Given the description of an element on the screen output the (x, y) to click on. 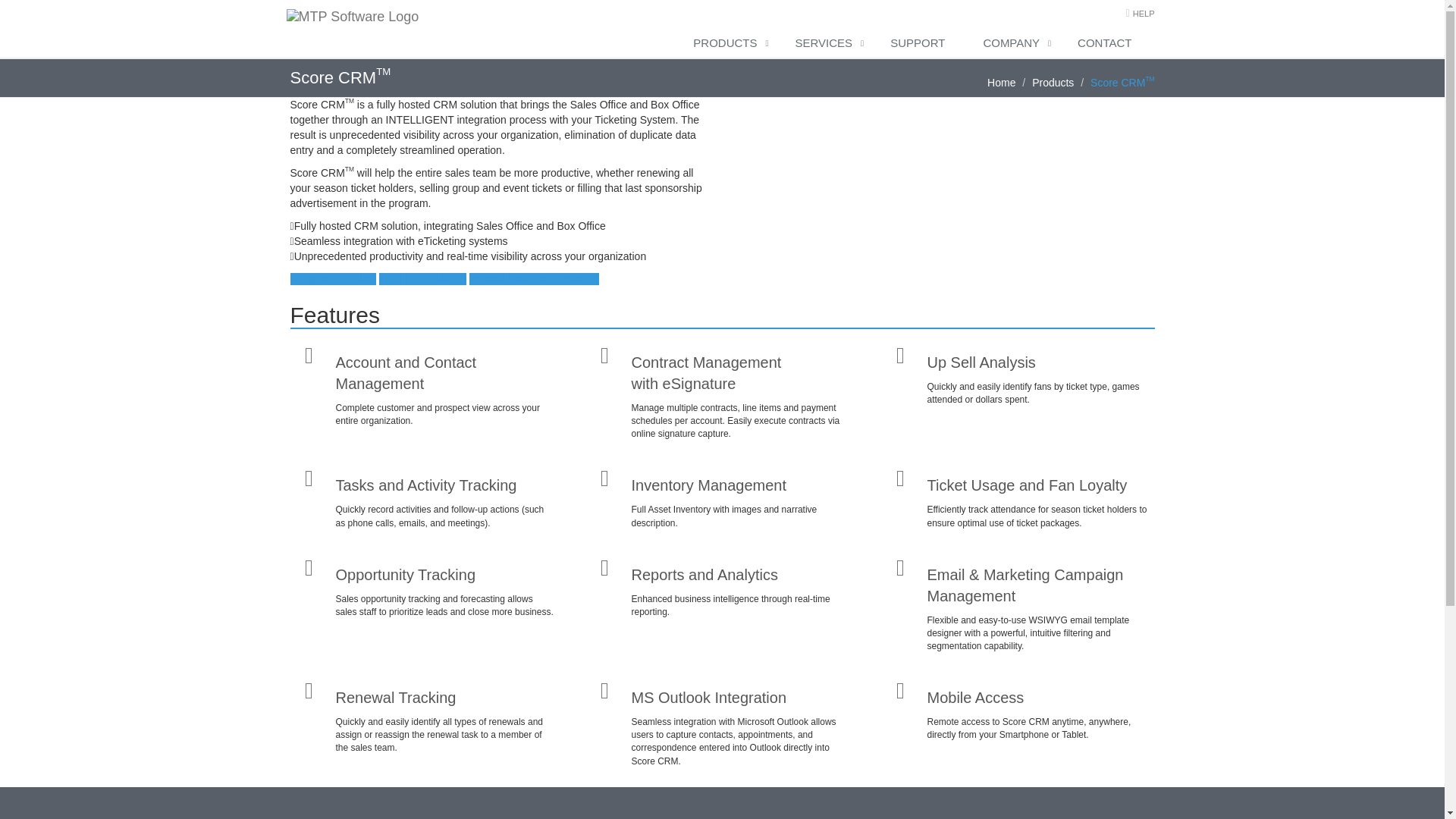
PRODUCTS (728, 43)
SERVICES (828, 43)
Products (1053, 82)
CONTACT SALES (421, 278)
HELP (1143, 13)
REQUEST DEMO (332, 278)
CONTACT (1108, 43)
Home (1000, 82)
COMPANY (1015, 43)
DOWNLOAD DATA SHEET (533, 278)
SUPPORT (921, 43)
